Given the description of an element on the screen output the (x, y) to click on. 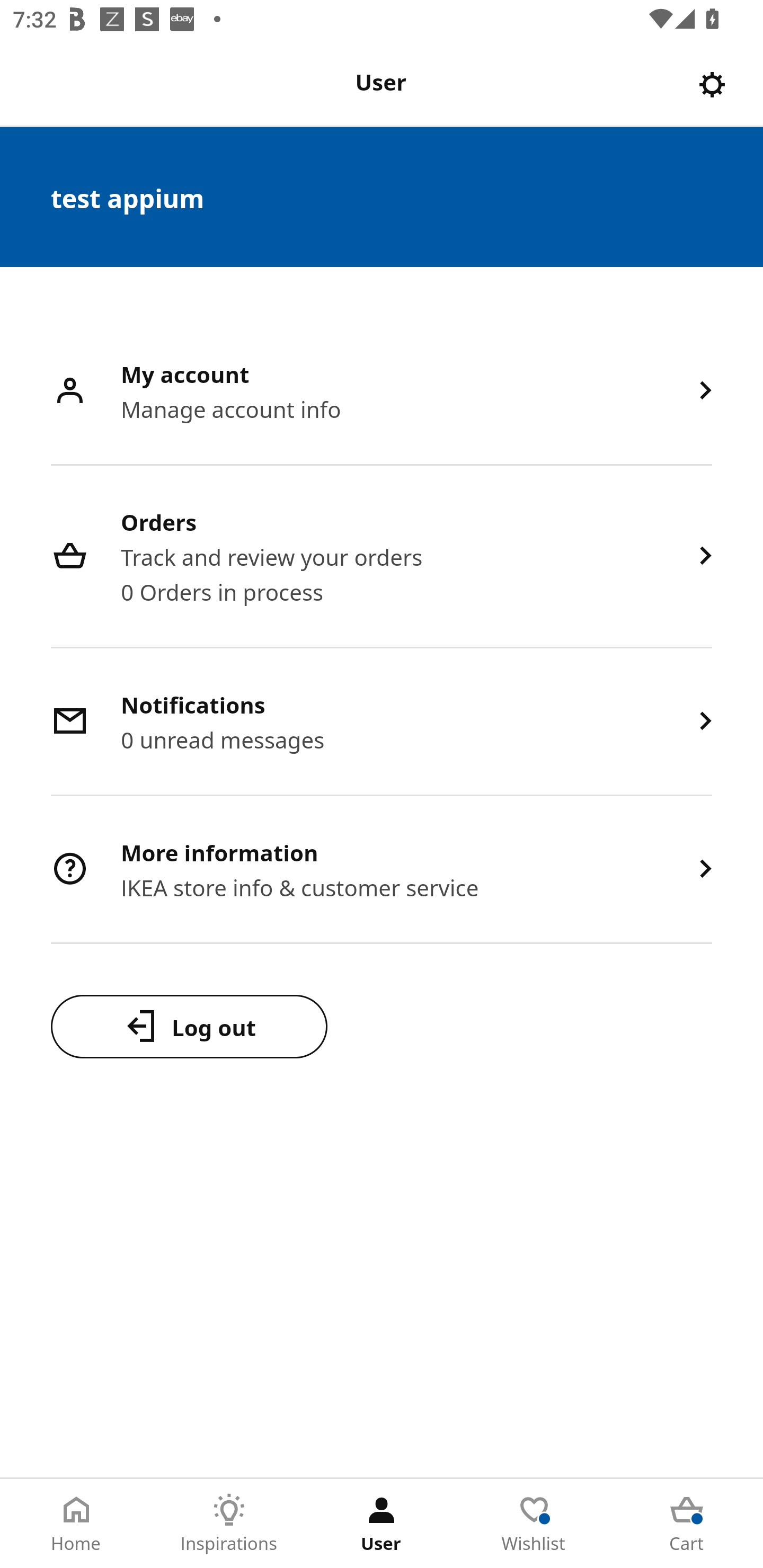
My account
Manage account info (381, 391)
Notifications
0 unread messages (381, 722)
Log out (189, 1026)
Home
Tab 1 of 5 (76, 1522)
Inspirations
Tab 2 of 5 (228, 1522)
User
Tab 3 of 5 (381, 1522)
Wishlist
Tab 4 of 5 (533, 1522)
Cart
Tab 5 of 5 (686, 1522)
